Given the description of an element on the screen output the (x, y) to click on. 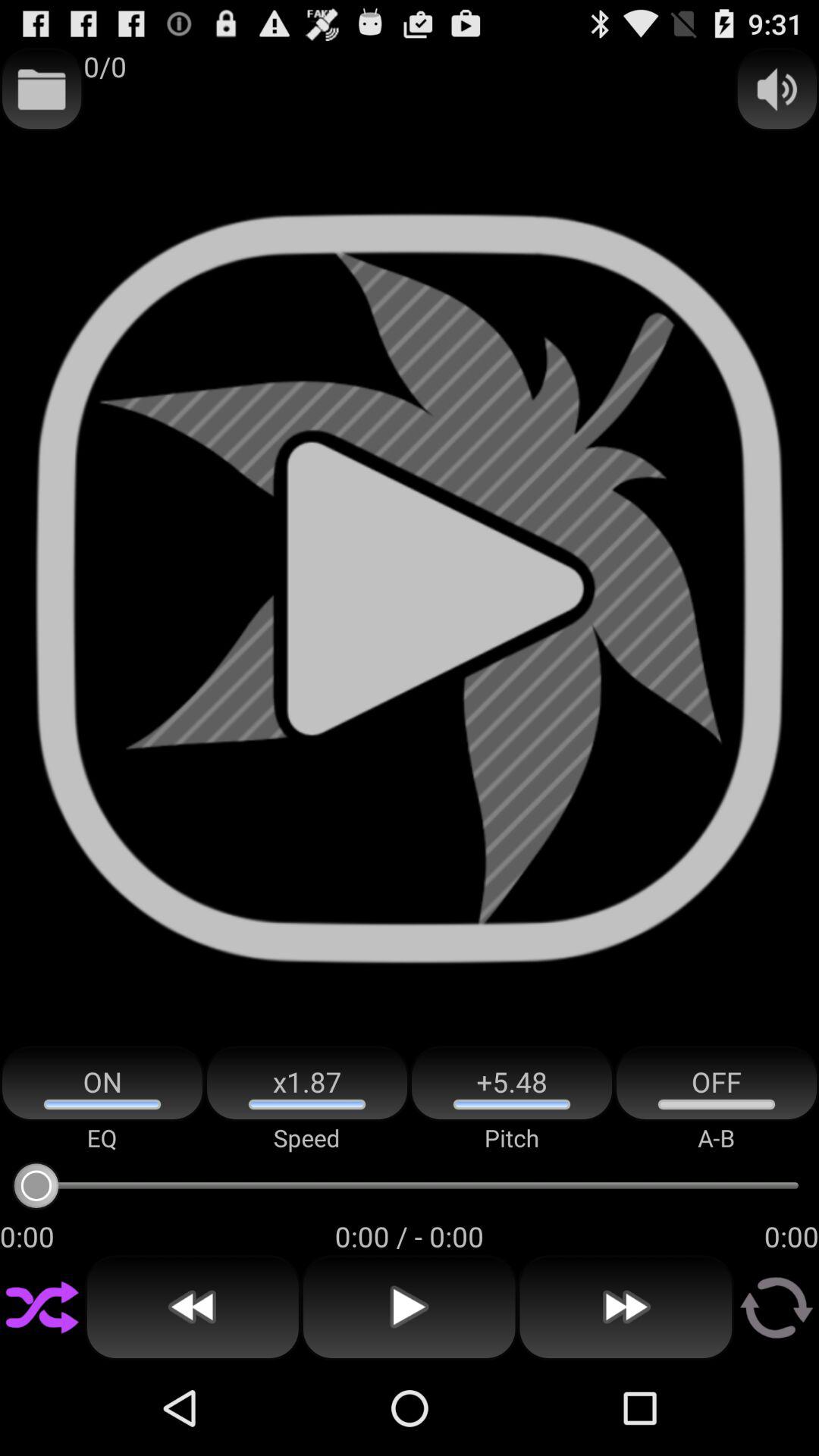
select item to the left of 0/0 icon (41, 89)
